Given the description of an element on the screen output the (x, y) to click on. 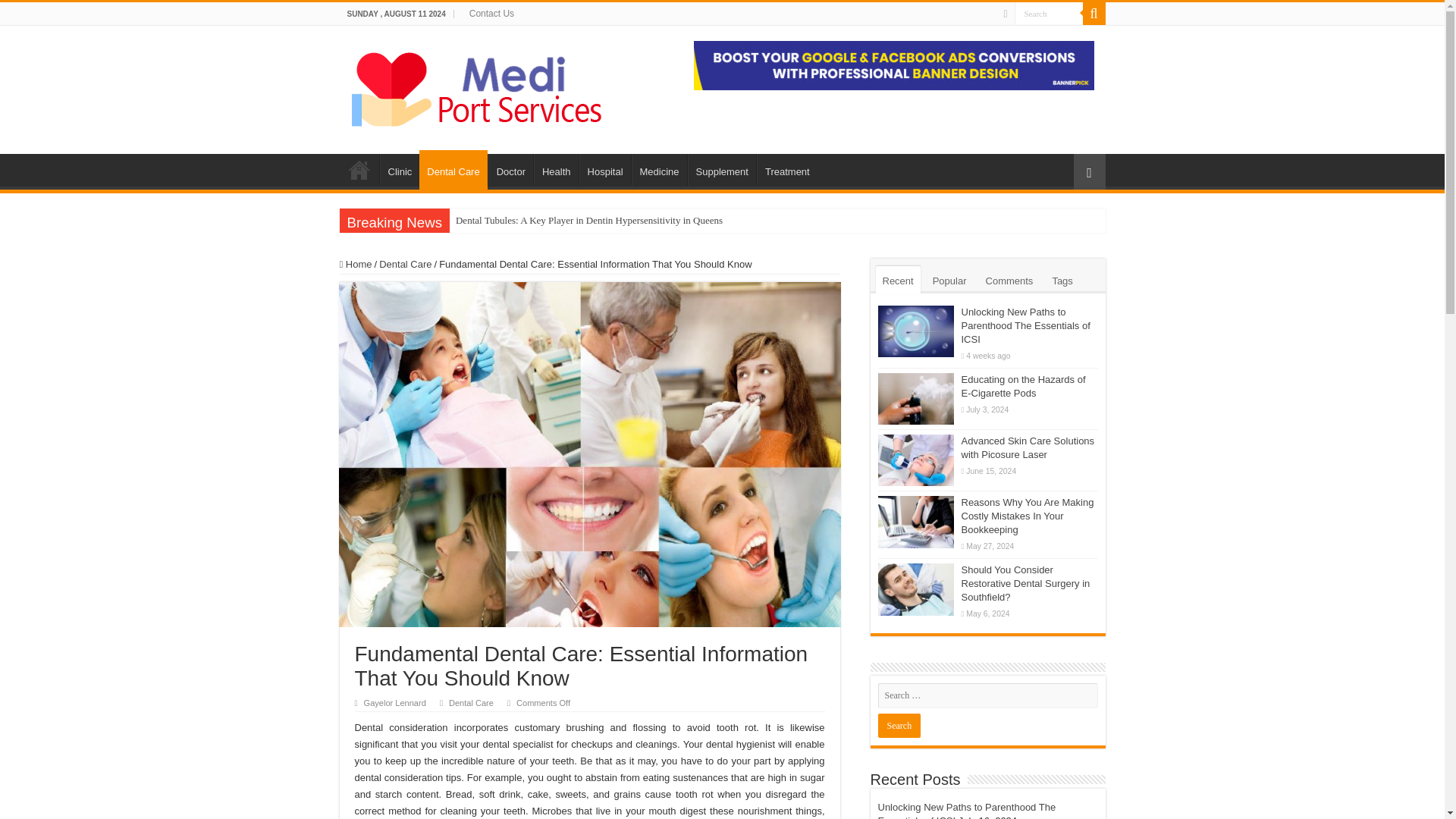
Search (1094, 13)
Search (1048, 13)
Home (355, 264)
Clinic (398, 169)
Search (899, 725)
Dental Care (404, 264)
Health (556, 169)
Supplement (721, 169)
Search (899, 725)
